Given the description of an element on the screen output the (x, y) to click on. 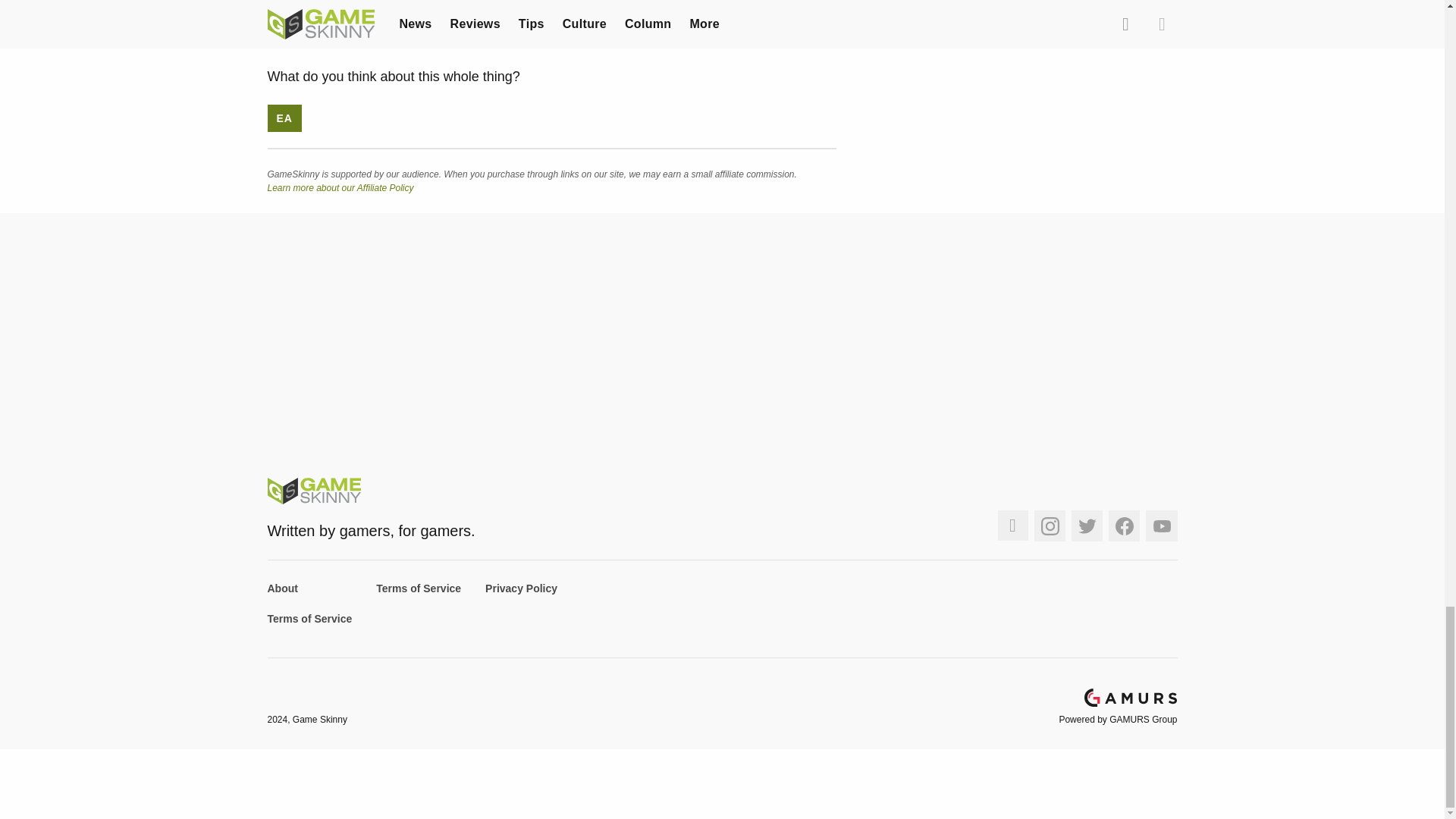
EA (283, 117)
Learn more about our Affiliate Policy (339, 187)
